Given the description of an element on the screen output the (x, y) to click on. 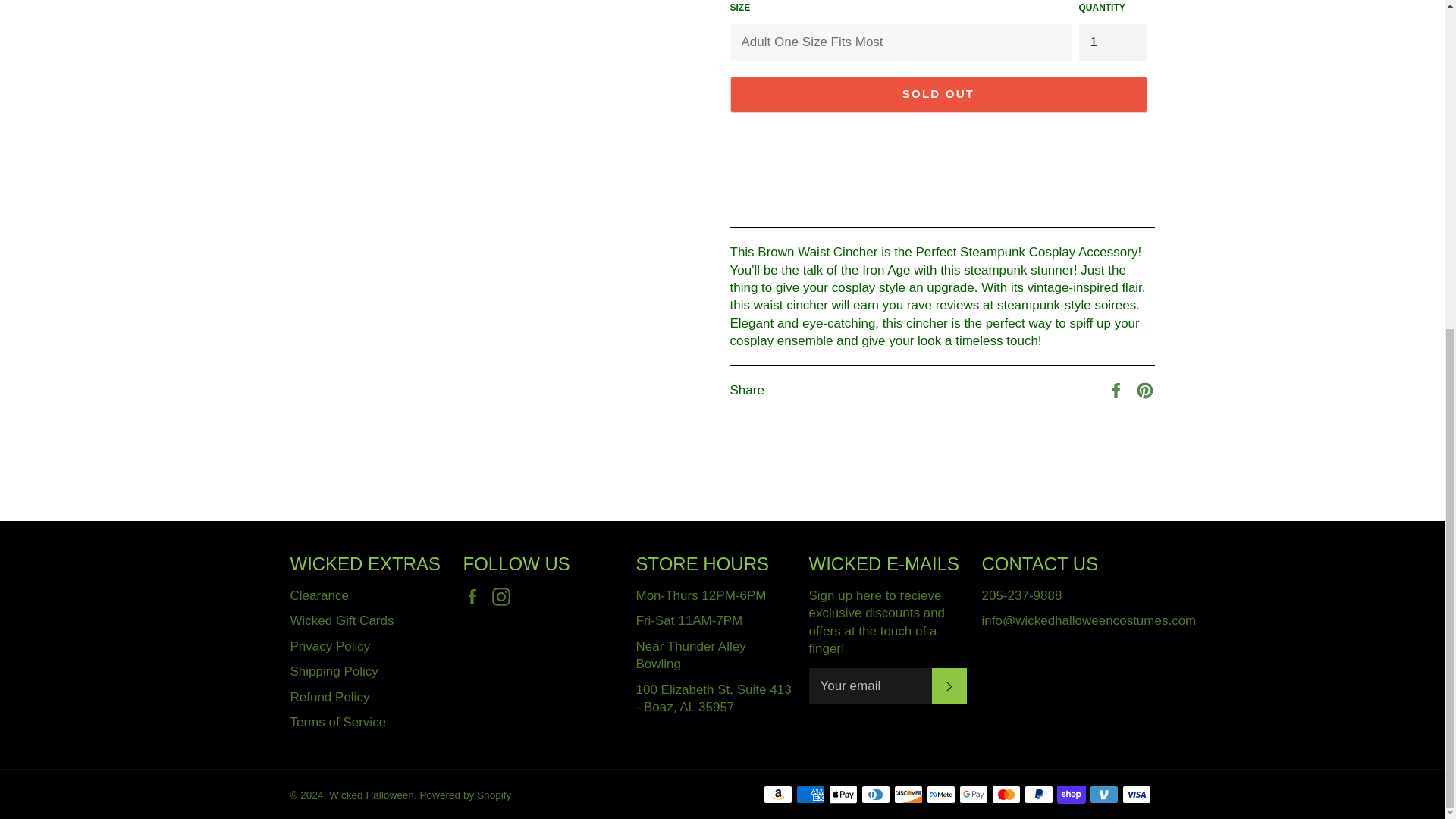
Pin on Pinterest (1144, 389)
Share on Facebook (1117, 389)
Wicked Halloween on Instagram (505, 596)
Wicked Halloween on Facebook (475, 596)
1 (1112, 41)
